Given the description of an element on the screen output the (x, y) to click on. 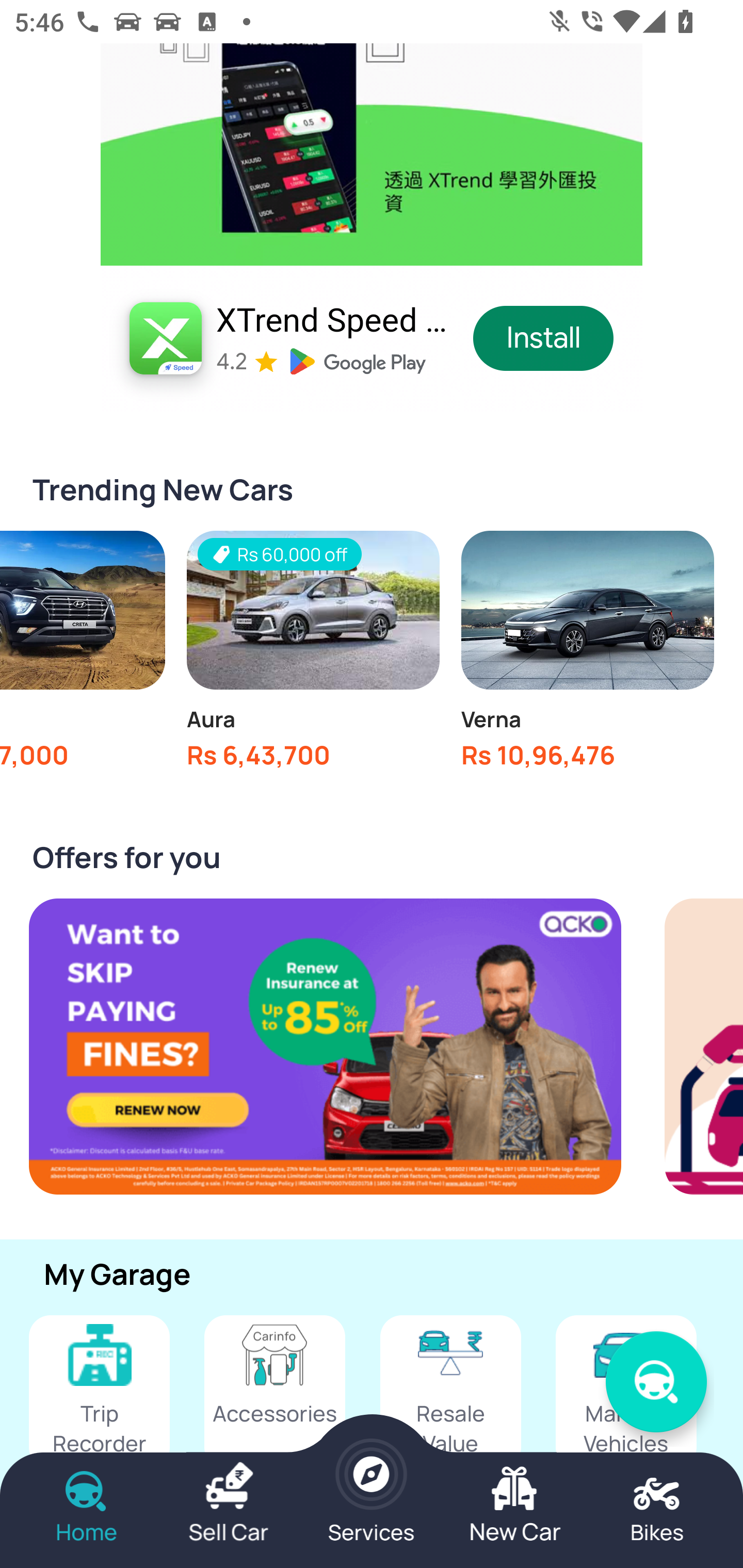
Install (543, 337)
Creta Rs 10,87,000 onwards (82, 654)
Rs 60,000 off Aura Rs 6,43,700 onwards (312, 654)
Verna Rs 10,96,476 onwards (587, 654)
Trip Recorder (98, 1392)
Accessories (274, 1392)
Resale
Value (450, 1392)
